Given the description of an element on the screen output the (x, y) to click on. 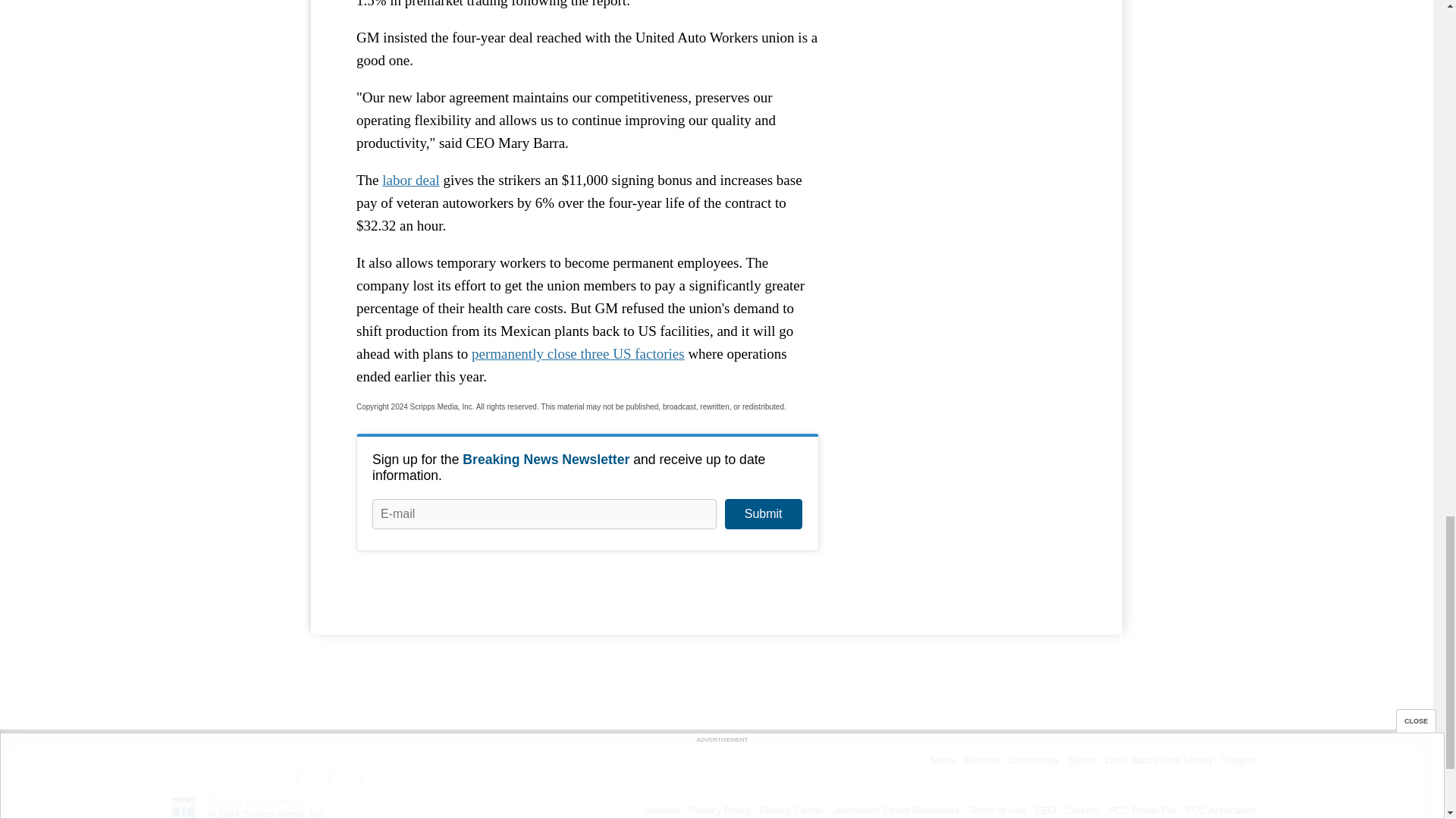
Submit (763, 513)
